Given the description of an element on the screen output the (x, y) to click on. 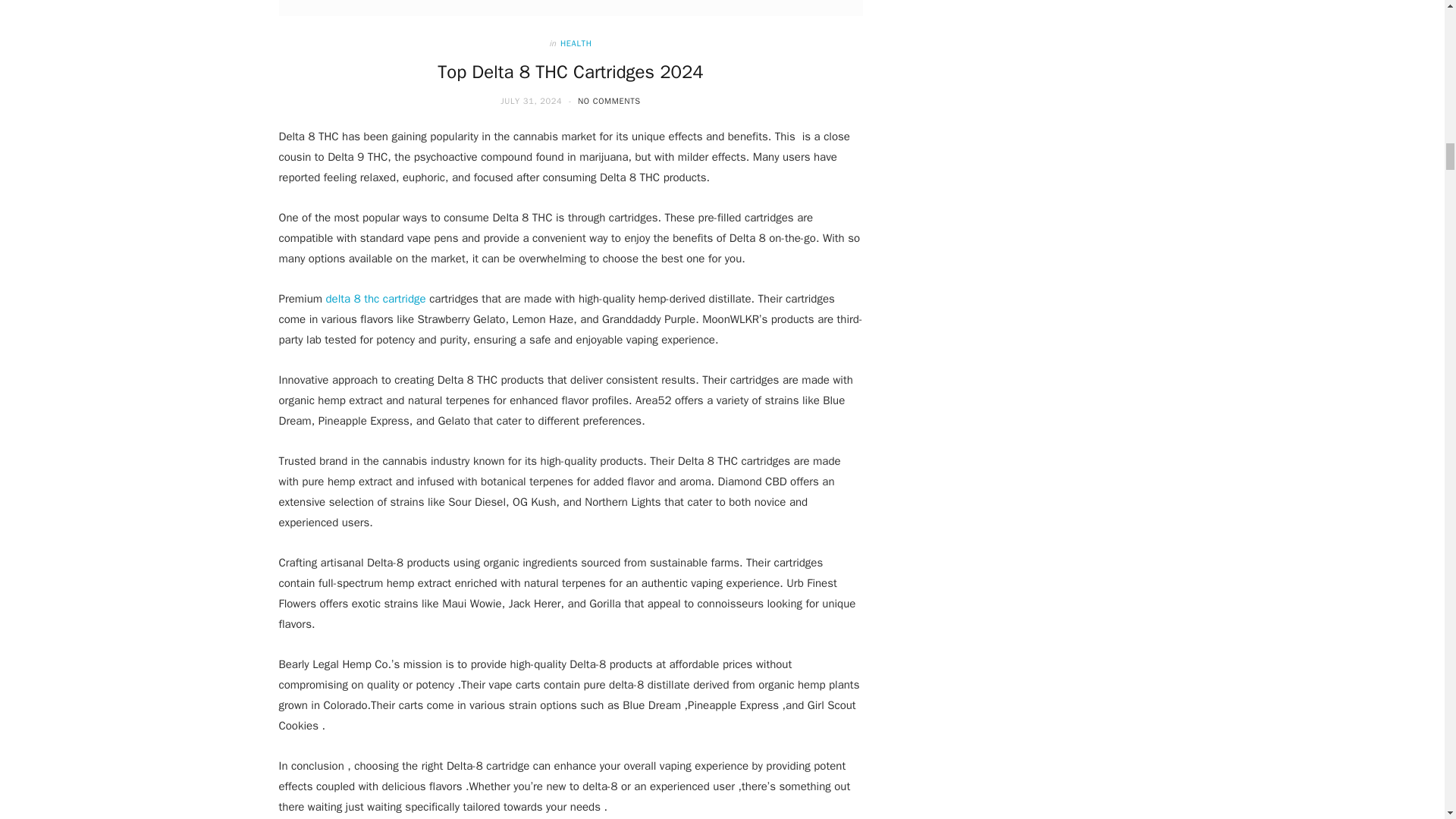
NO COMMENTS (609, 100)
JULY 31, 2024 (532, 100)
delta 8 thc cartridge (376, 298)
HEALTH (576, 42)
Top Delta 8 THC Cartridges 2024 (570, 71)
